Given the description of an element on the screen output the (x, y) to click on. 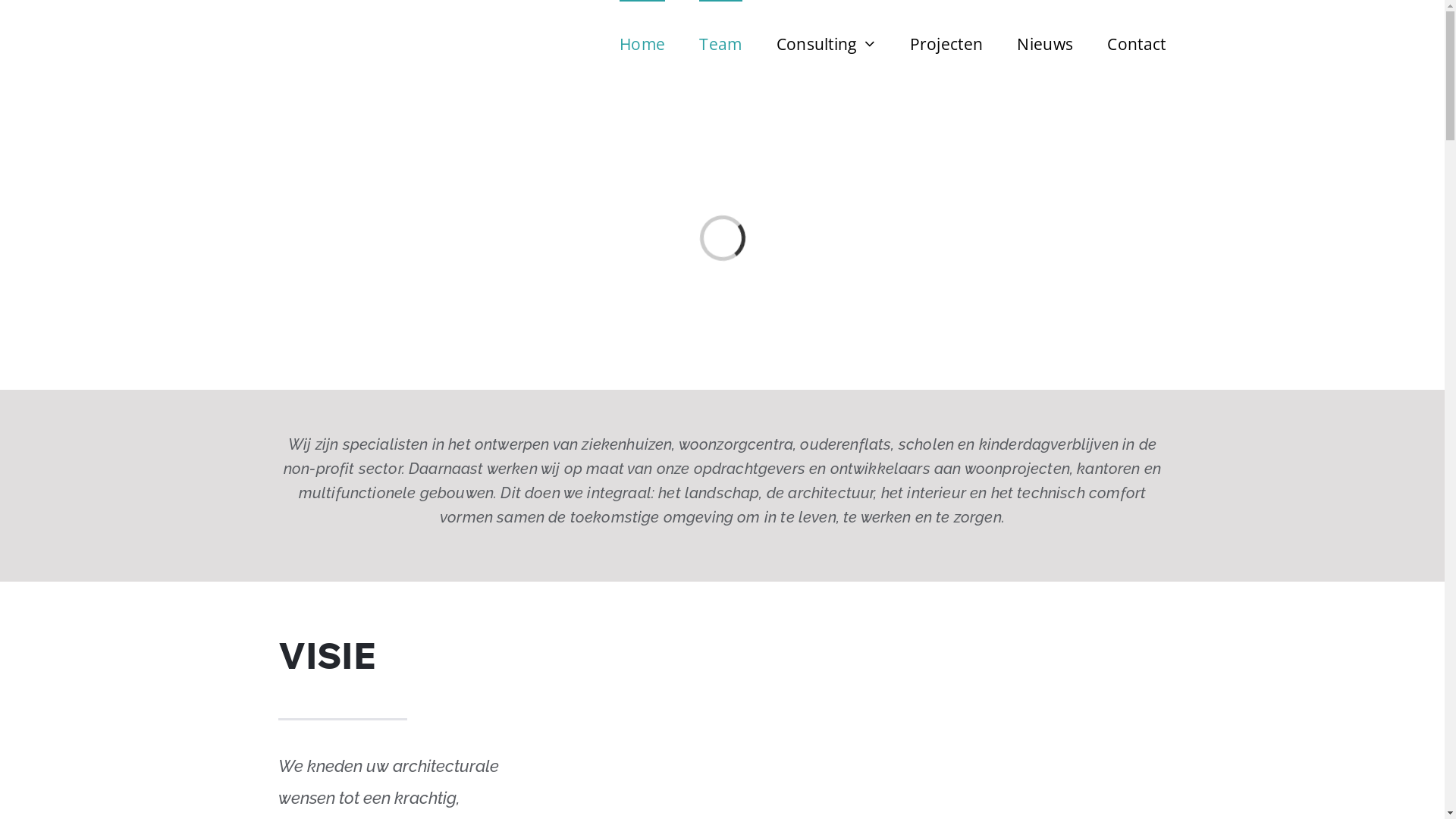
Contact Element type: text (1136, 43)
Projecten Element type: text (946, 43)
Team Element type: text (720, 43)
Home Element type: text (642, 43)
Nieuws Element type: text (1044, 43)
Visie_1024x658 Element type: hover (875, 637)
Consulting Element type: text (825, 43)
